Given the description of an element on the screen output the (x, y) to click on. 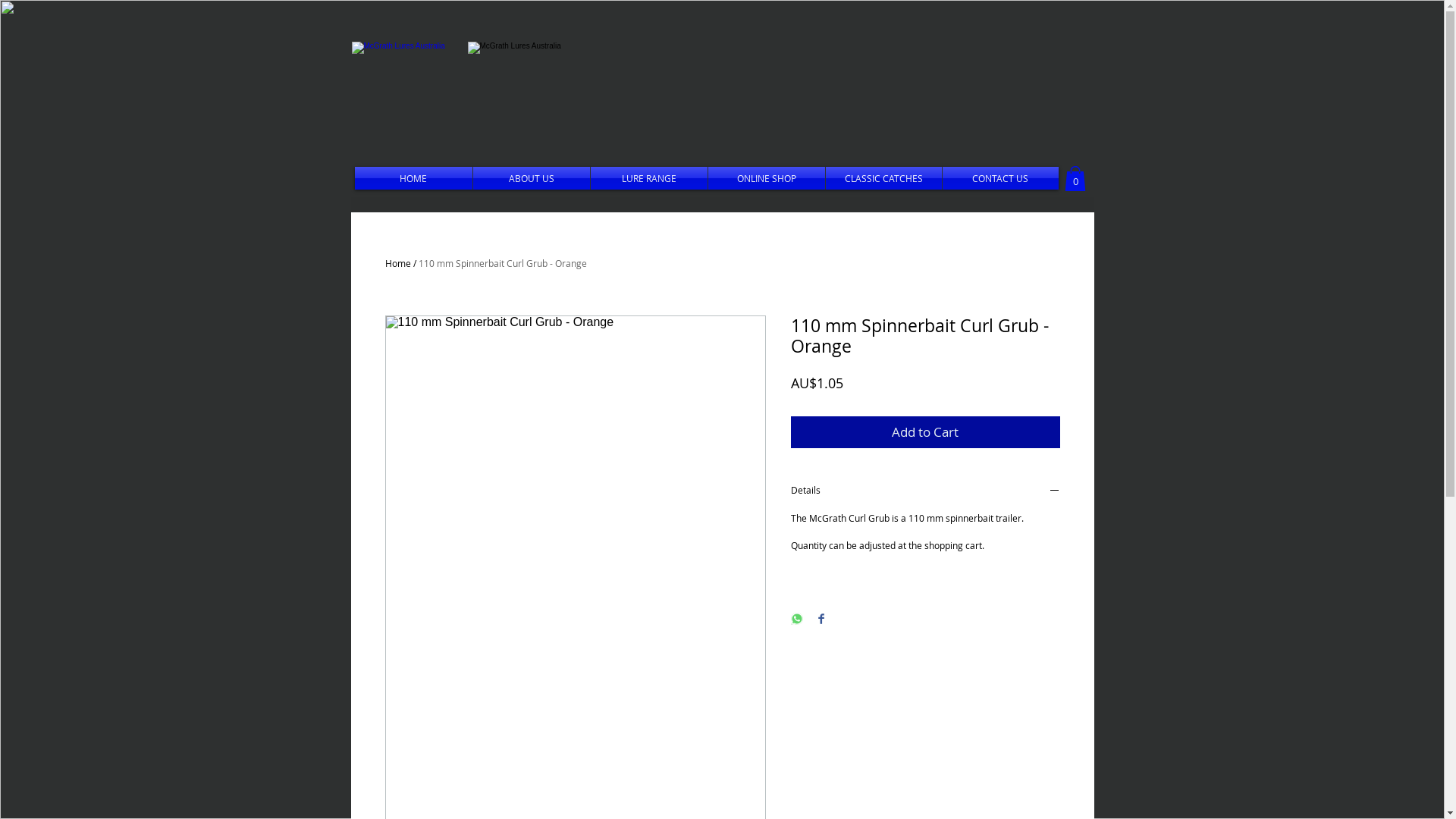
HOME Element type: text (413, 177)
Details Element type: text (924, 491)
LURE RANGE Element type: text (647, 177)
ONLINE SHOP Element type: text (766, 177)
CLASSIC CATCHES Element type: text (883, 177)
Home Element type: text (398, 263)
Add to Cart Element type: text (924, 432)
ABOUT US Element type: text (531, 177)
110 mm Spinnerbait Curl Grub - Orange Element type: text (502, 263)
0 Element type: text (1074, 178)
CONTACT US Element type: text (999, 177)
mcgrath.png Element type: hover (413, 103)
